Given the description of an element on the screen output the (x, y) to click on. 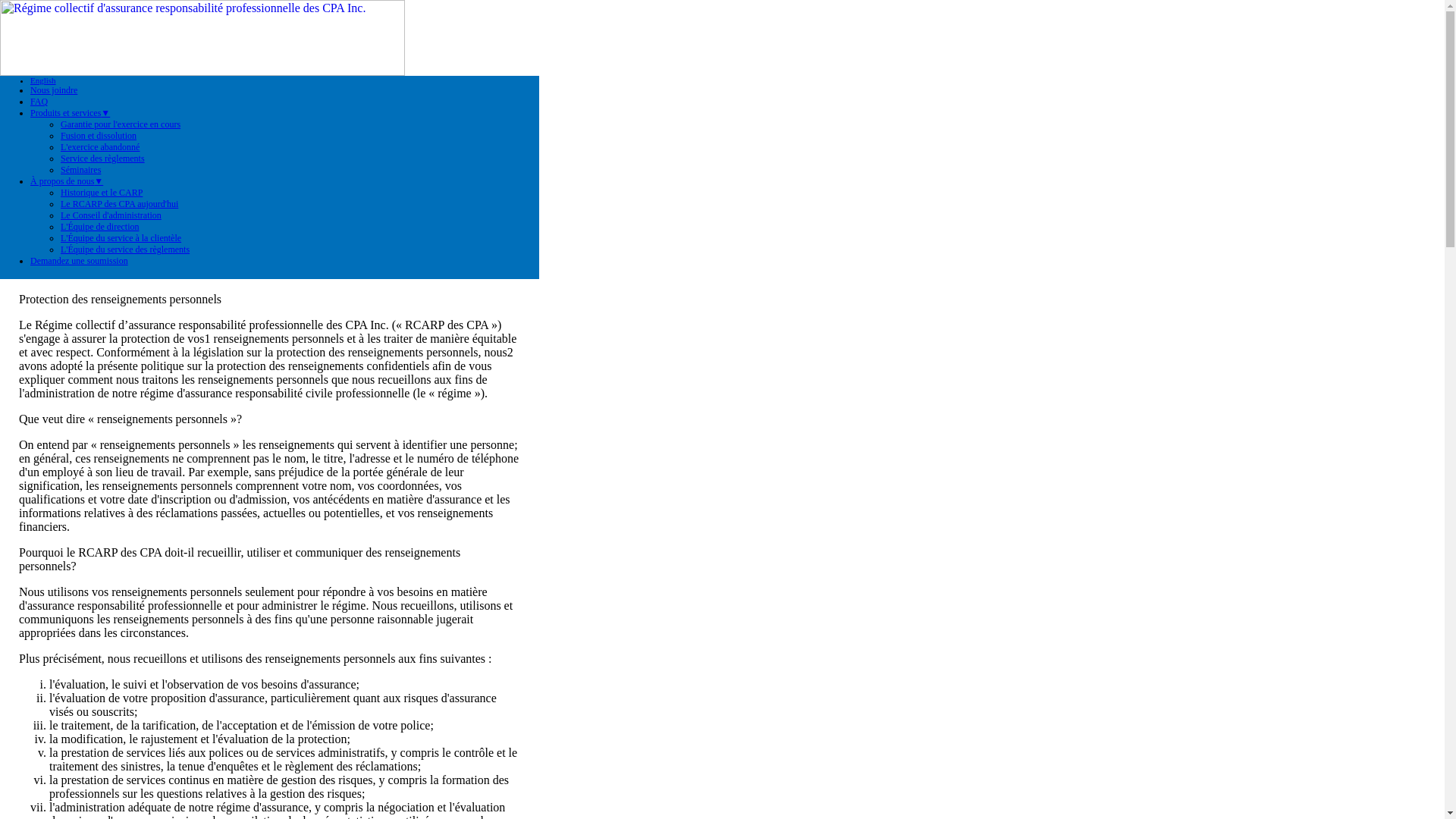
FAQ Element type: text (38, 101)
Nous joindre Element type: text (53, 89)
Fusion et dissolution Element type: text (98, 135)
English Element type: text (43, 79)
Le Conseil d'administration Element type: text (110, 215)
Le RCARP des CPA aujourd'hui Element type: text (119, 203)
Garantie pour l'exercice en cours Element type: text (120, 124)
Historique et le CARP Element type: text (101, 192)
Demandez une soumission Element type: text (79, 260)
